Given the description of an element on the screen output the (x, y) to click on. 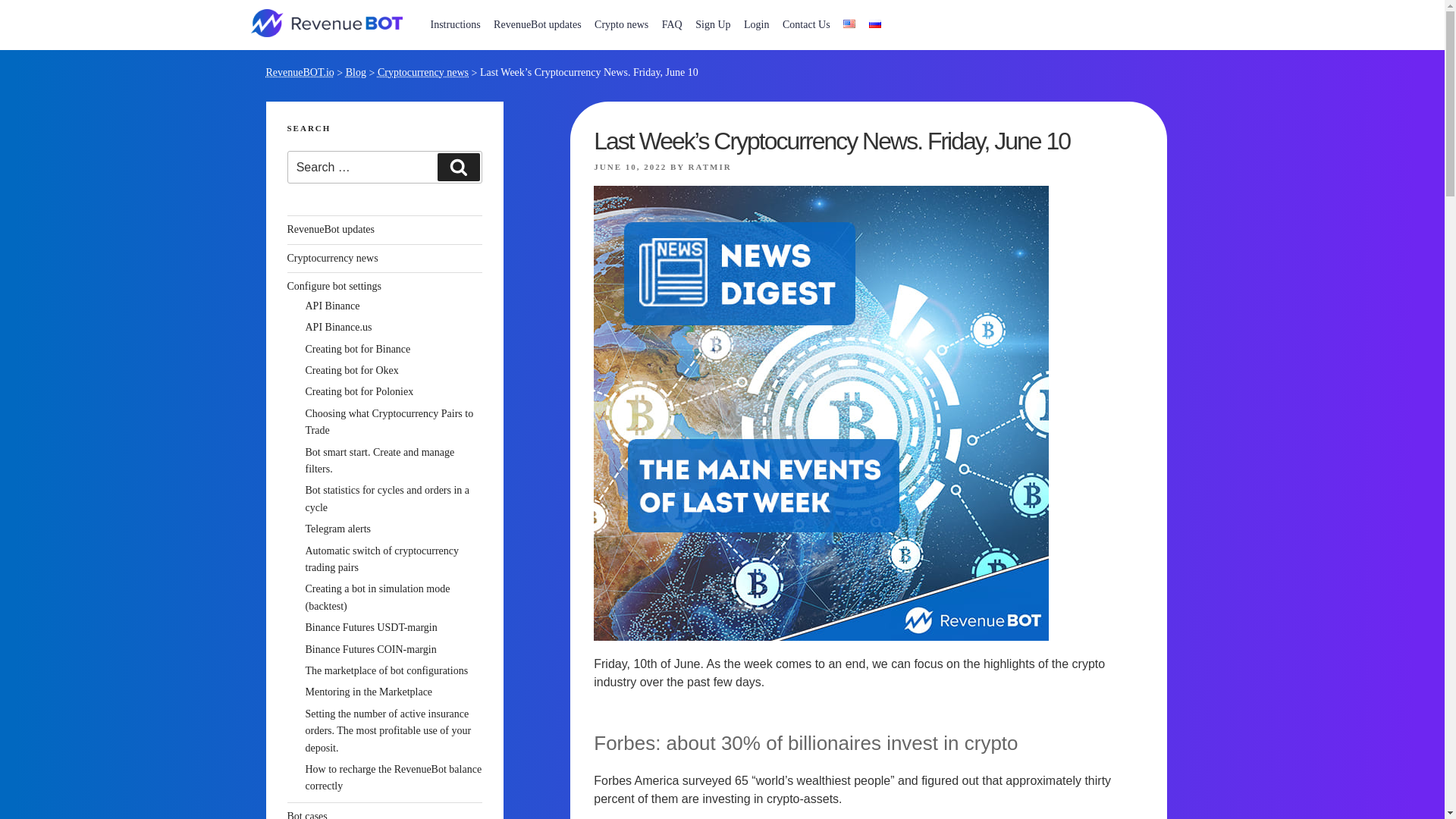
Crypto news (621, 23)
RATMIR (710, 166)
JUNE 10, 2022 (630, 166)
Login (756, 23)
Contact Us (806, 23)
RevenueBot updates (536, 23)
FAQ (671, 23)
Sign Up (712, 23)
Cryptocurrency news (422, 71)
RevenueBOT.io (298, 71)
Instructions (454, 23)
Blog (356, 71)
